Given the description of an element on the screen output the (x, y) to click on. 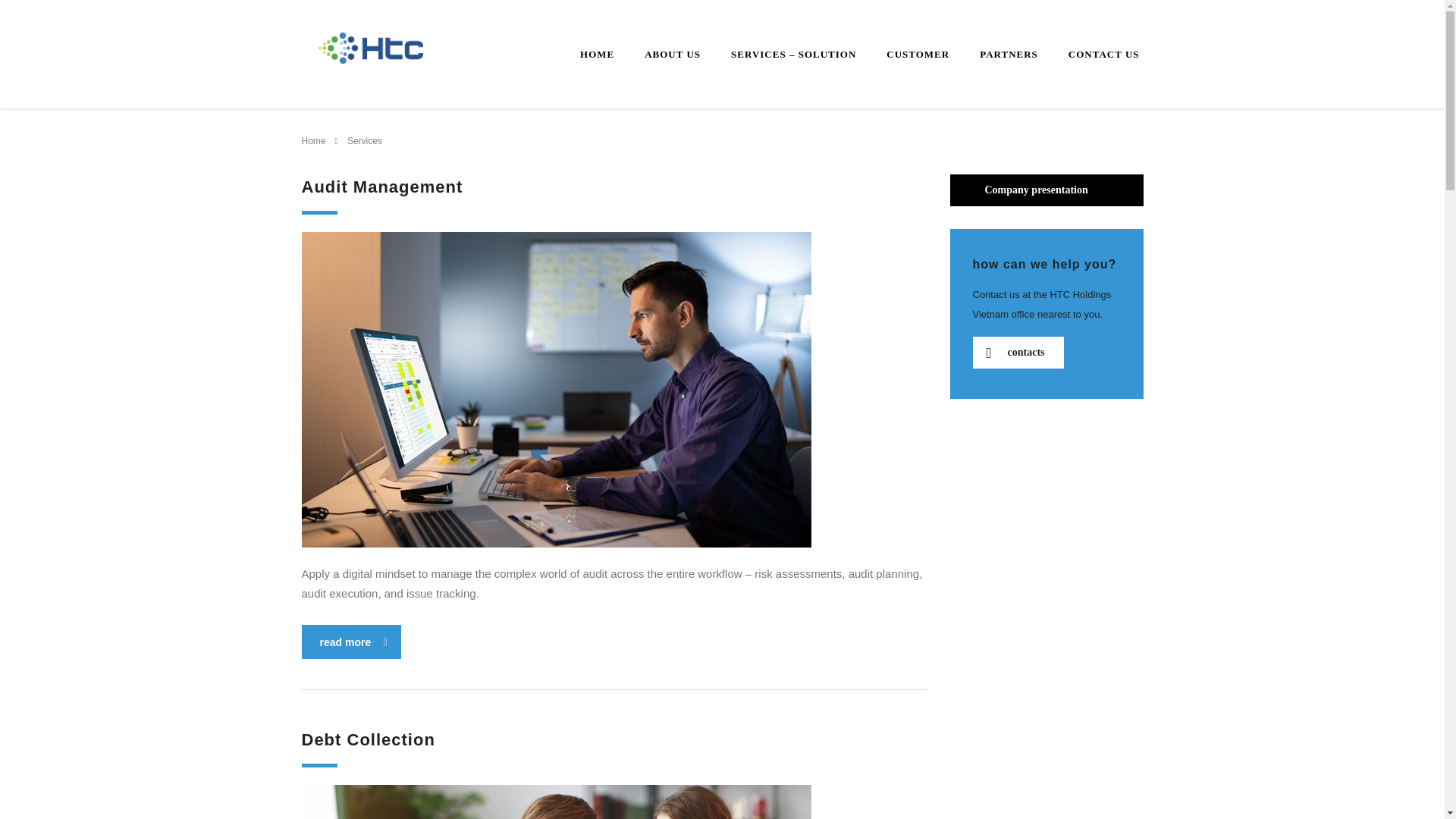
Home (313, 140)
CONTACT US (1103, 54)
CUSTOMER (916, 54)
ABOUT US (672, 54)
contacts (1017, 352)
Company presentation (1045, 190)
Go to HTC Holdings Viet Nam. (313, 140)
HOME (596, 54)
read more (351, 641)
PARTNERS (1007, 54)
